Given the description of an element on the screen output the (x, y) to click on. 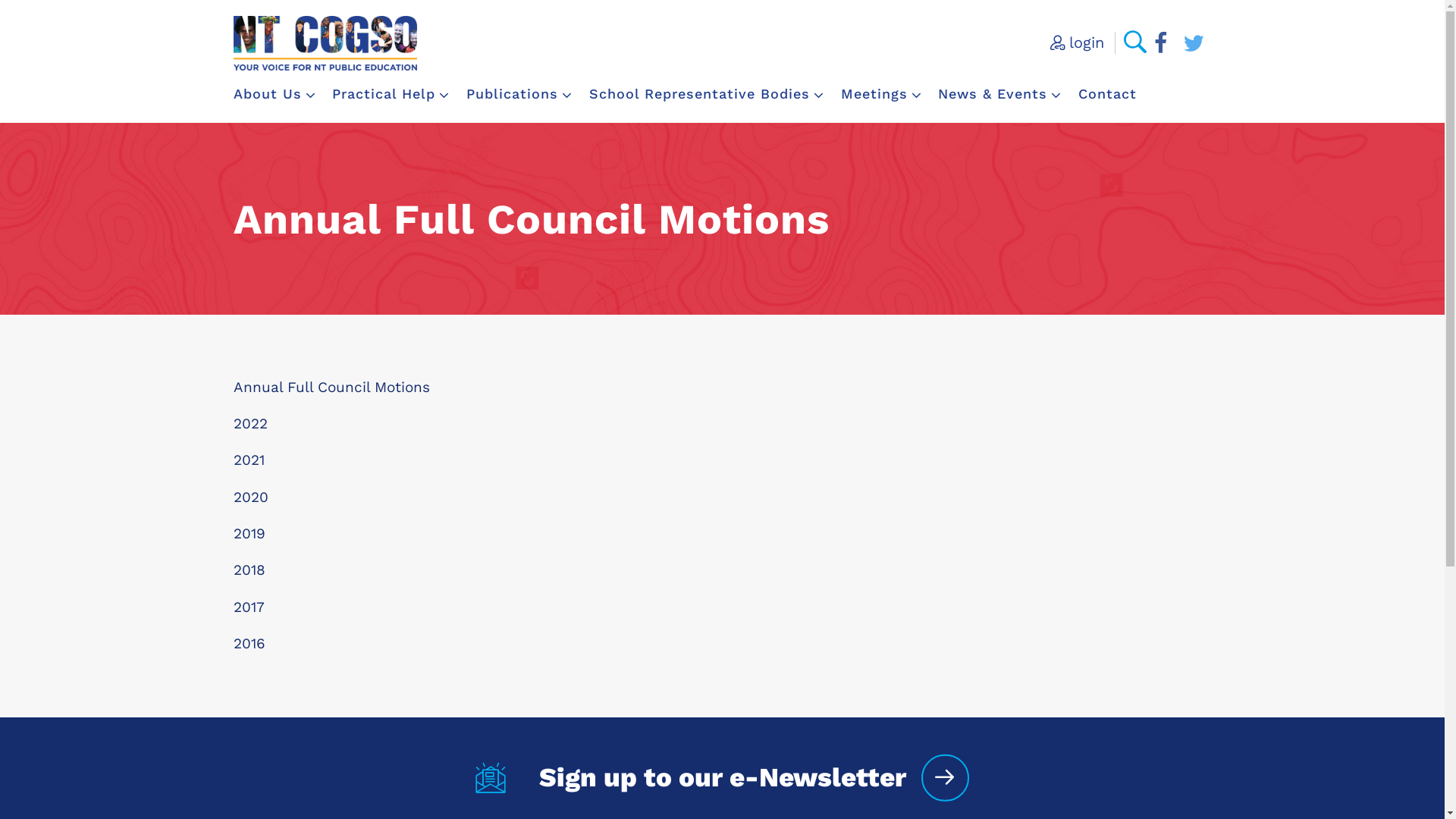
News & Events Element type: text (1000, 93)
Link opens in a new window Element type: hover (1193, 44)
Practical Help Element type: text (391, 93)
login Element type: text (1076, 42)
Meetings Element type: text (881, 93)
School Representative Bodies Element type: text (707, 93)
Search Element type: text (42, 18)
Contact Element type: text (1107, 93)
About Us Element type: text (274, 93)
Publications Element type: text (519, 93)
Skip to main content Element type: text (22, 22)
Link opens in a new window Element type: hover (1160, 44)
Sign up to our e-Newsletter Element type: text (721, 777)
Search Element type: text (1134, 41)
